Given the description of an element on the screen output the (x, y) to click on. 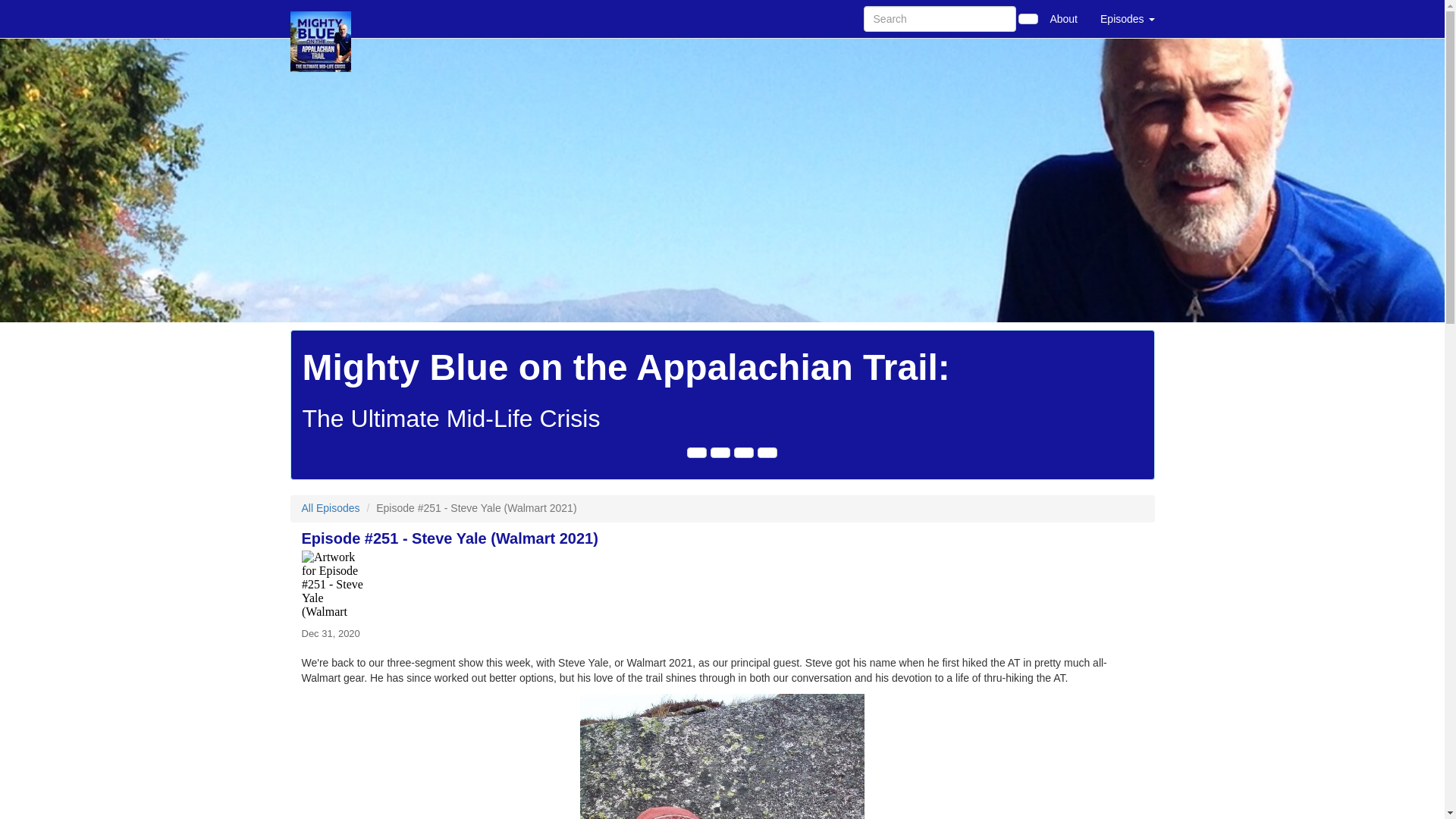
Episodes (1127, 18)
Home Page (320, 18)
About (1063, 18)
